Given the description of an element on the screen output the (x, y) to click on. 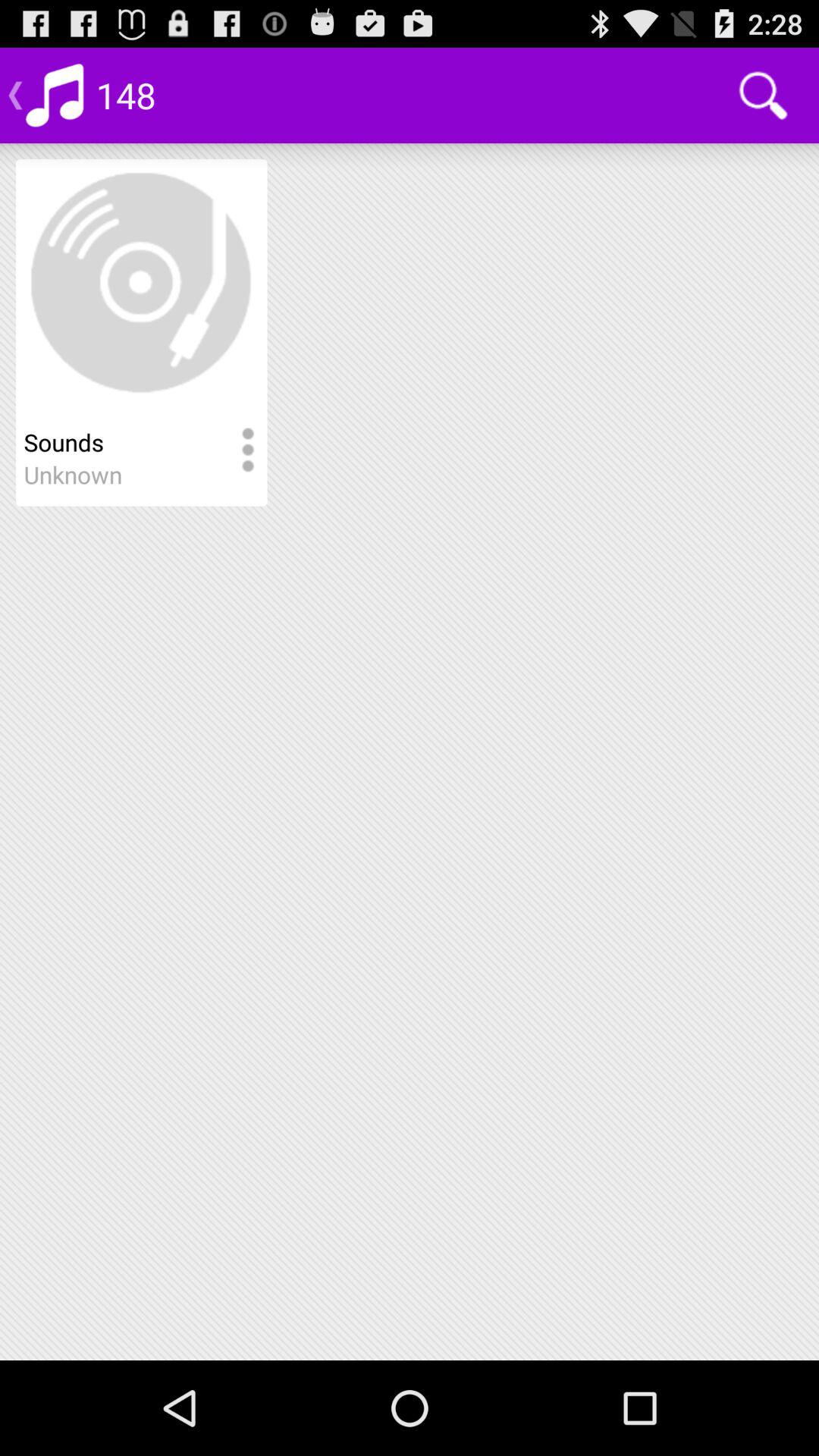
select the item to the right of the sounds (247, 450)
